Given the description of an element on the screen output the (x, y) to click on. 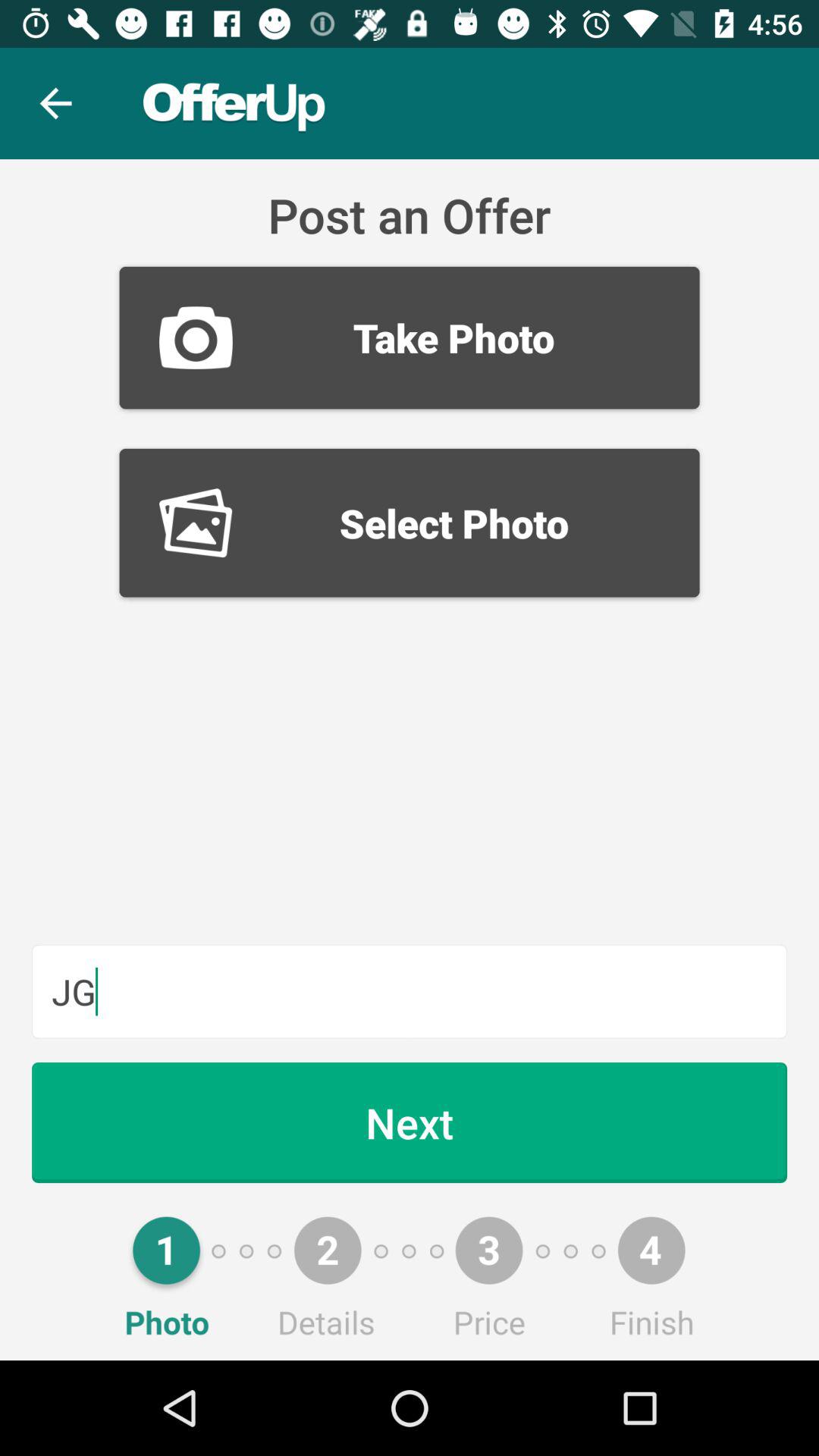
select the jg (409, 991)
